Given the description of an element on the screen output the (x, y) to click on. 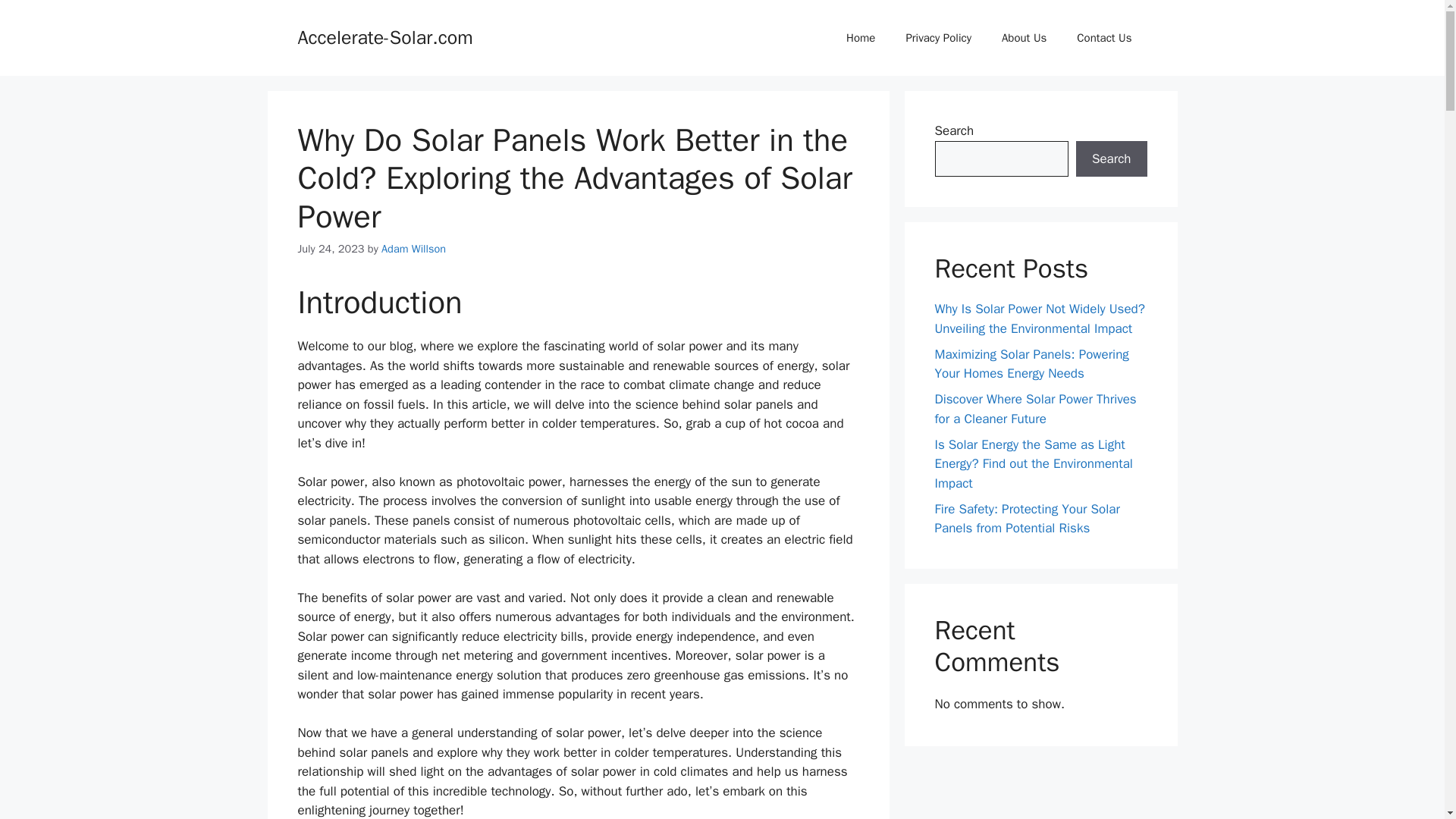
Maximizing Solar Panels: Powering Your Homes Energy Needs (1031, 363)
Contact Us (1104, 37)
Adam Willson (413, 248)
Home (860, 37)
View all posts by Adam Willson (413, 248)
Discover Where Solar Power Thrives for a Cleaner Future (1034, 408)
About Us (1024, 37)
